Given the description of an element on the screen output the (x, y) to click on. 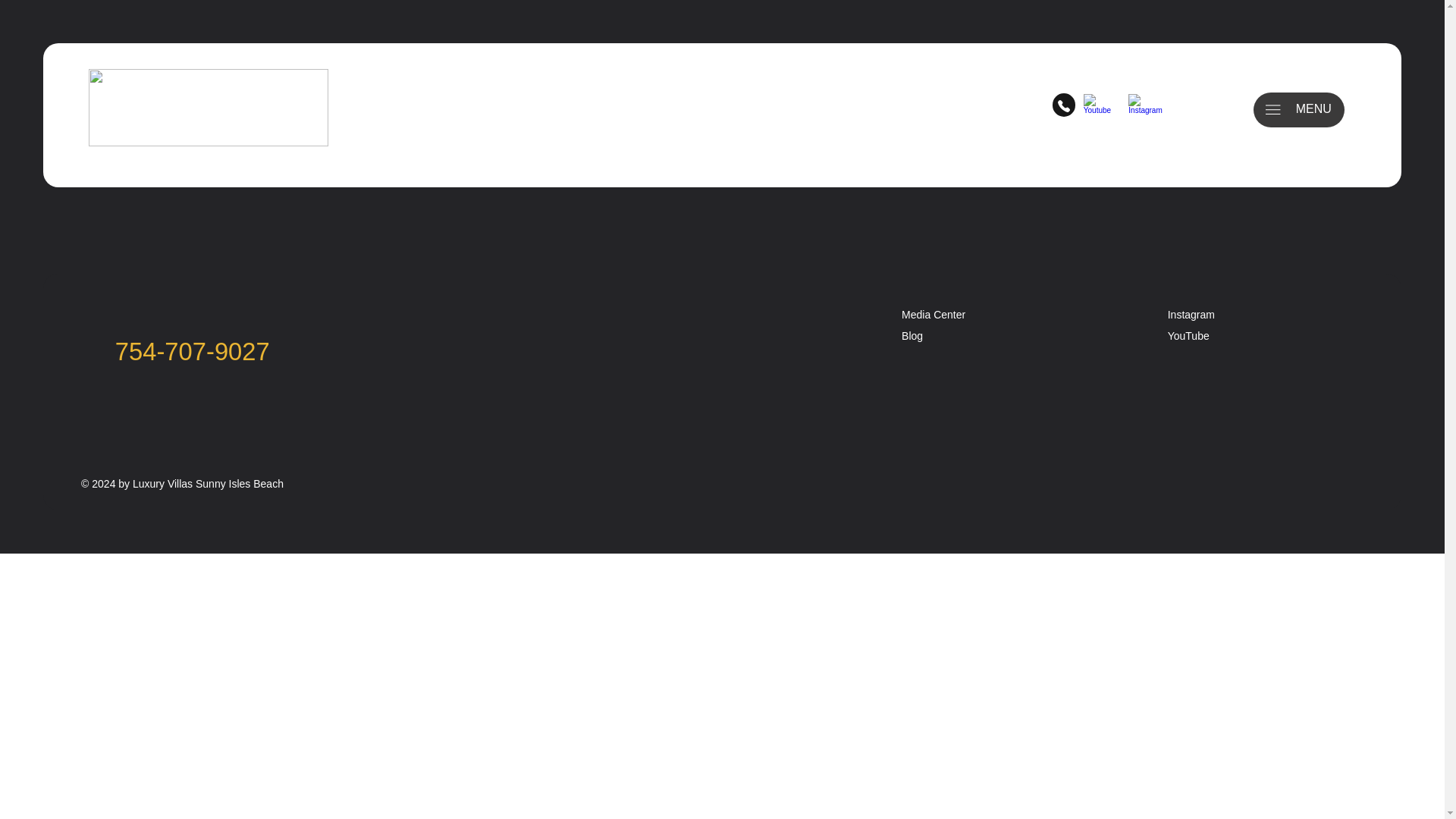
YouTube (1188, 336)
Instagram (1190, 314)
Blog (912, 336)
